Given the description of an element on the screen output the (x, y) to click on. 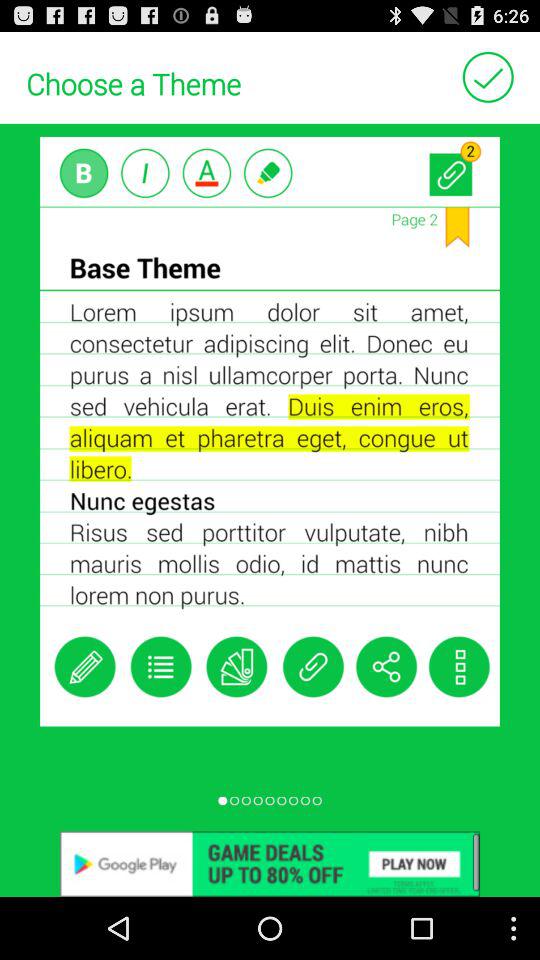
select finalise (487, 76)
